Given the description of an element on the screen output the (x, y) to click on. 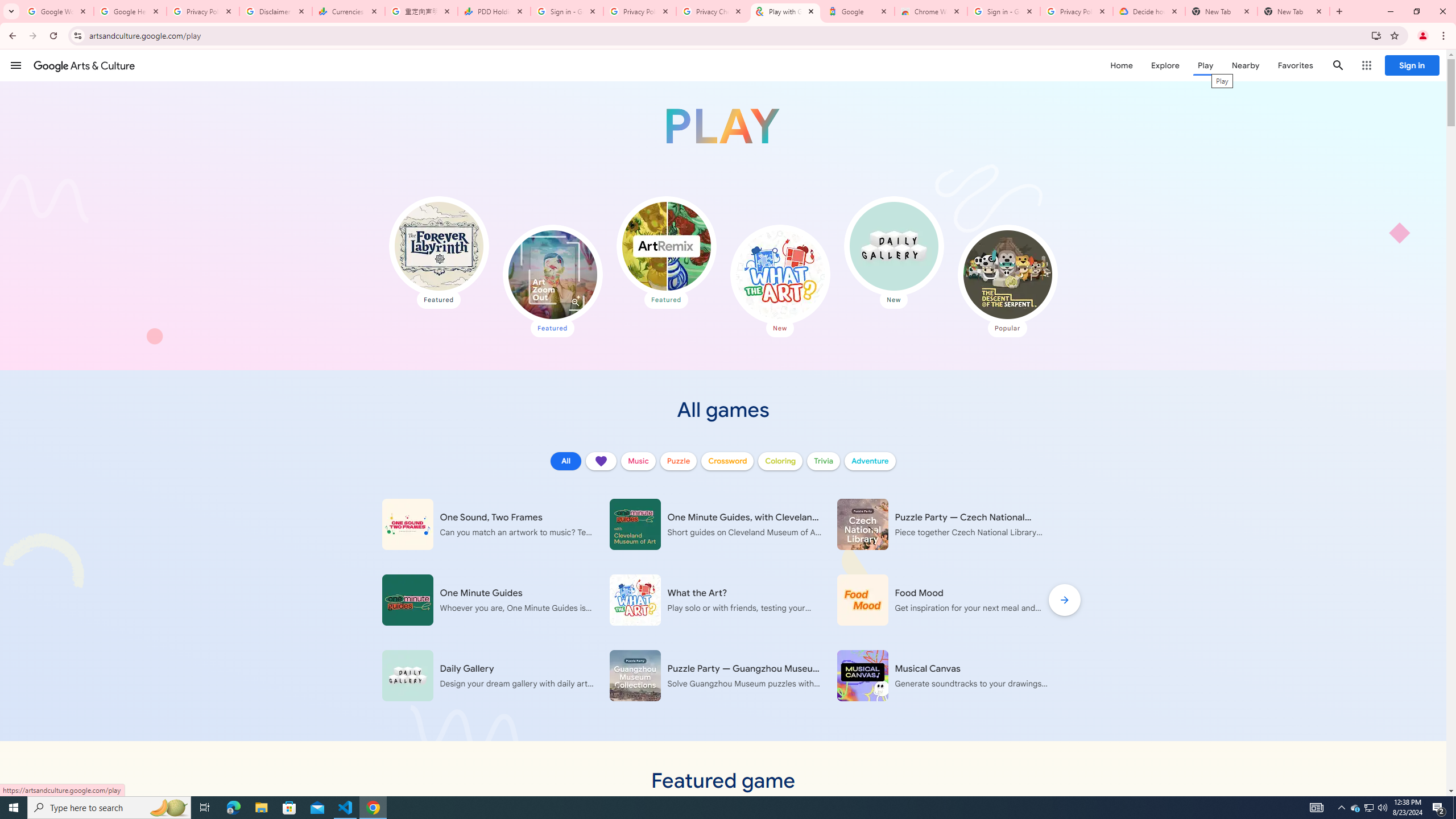
Privacy Checkup (712, 11)
What the Art? (779, 274)
Art Zoom Out (552, 274)
Favorites (1295, 65)
Play with Google Arts & Culture (722, 126)
Google Workspace Admin Community (57, 11)
